Given the description of an element on the screen output the (x, y) to click on. 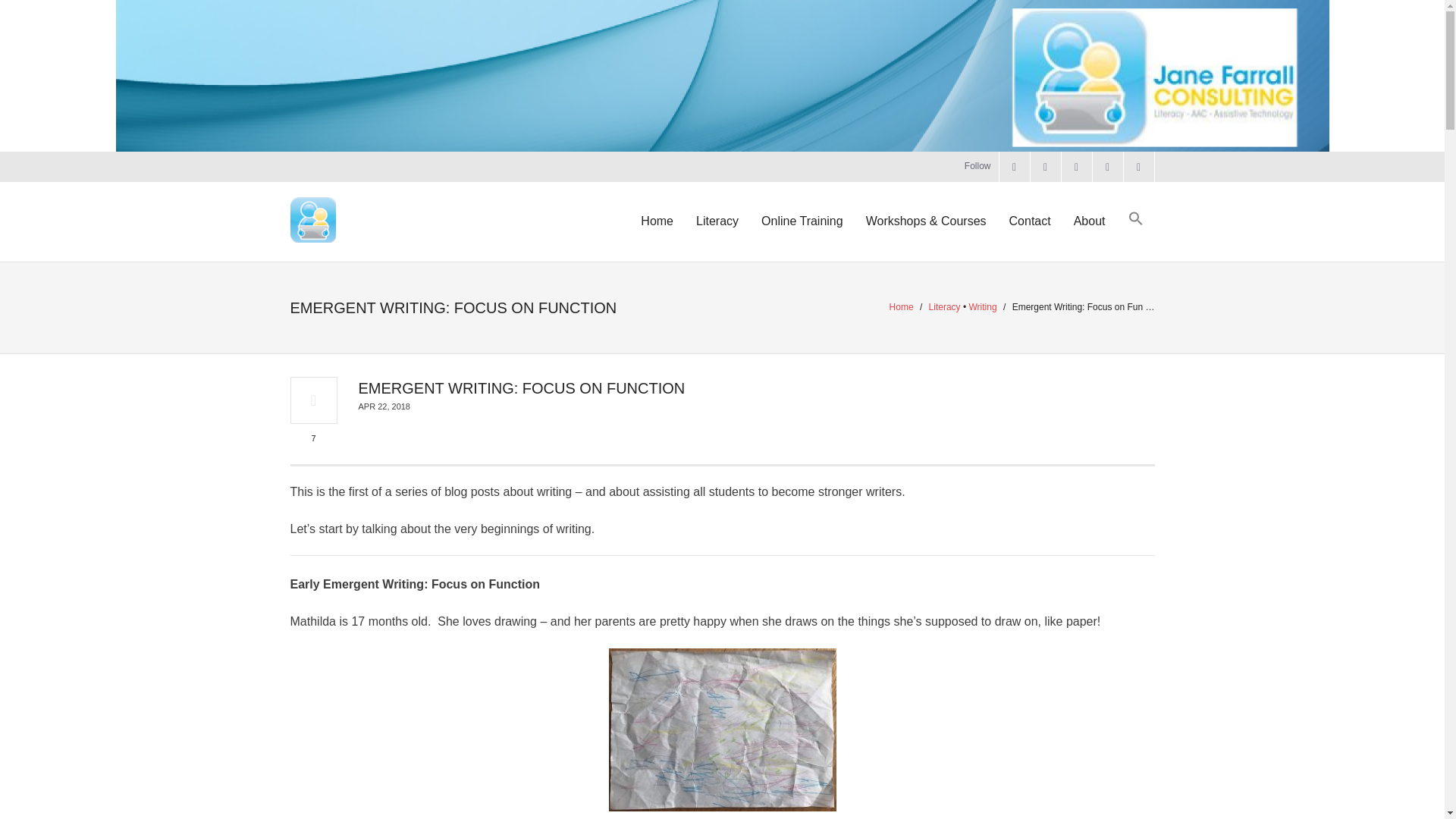
Home (901, 307)
Writing (983, 307)
APR 22, 2018 (384, 406)
Literacy (944, 307)
Online Training (801, 221)
Emergent Writing: Focus on Function (384, 406)
